Given the description of an element on the screen output the (x, y) to click on. 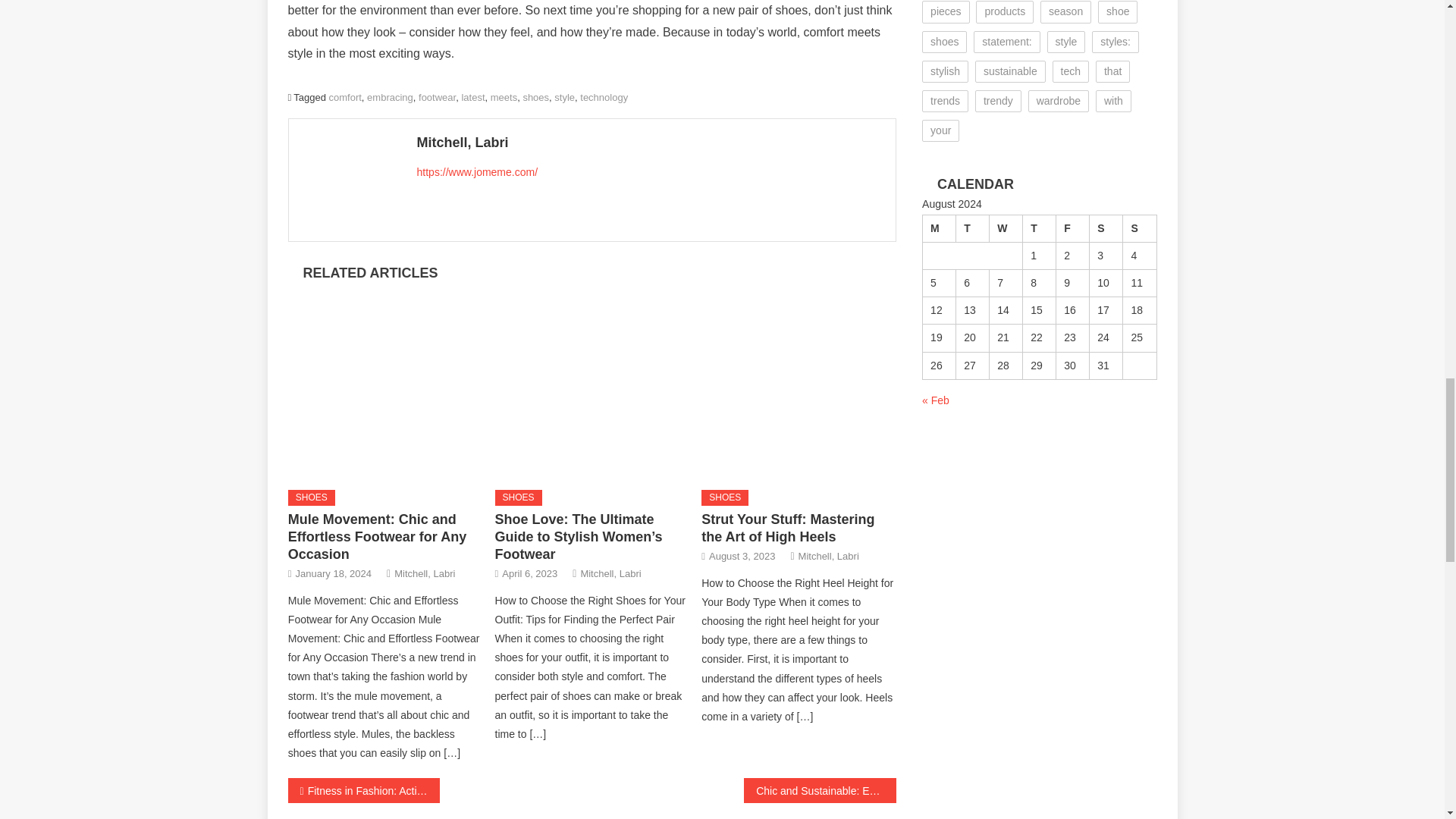
Mule Movement: Chic and Effortless Footwear for Any Occasion (384, 380)
style (564, 97)
Saturday (1105, 227)
SHOES (518, 497)
Friday (1073, 227)
meets (503, 97)
Thursday (1040, 227)
comfort (345, 97)
January 18, 2024 (333, 573)
technology (603, 97)
